Given the description of an element on the screen output the (x, y) to click on. 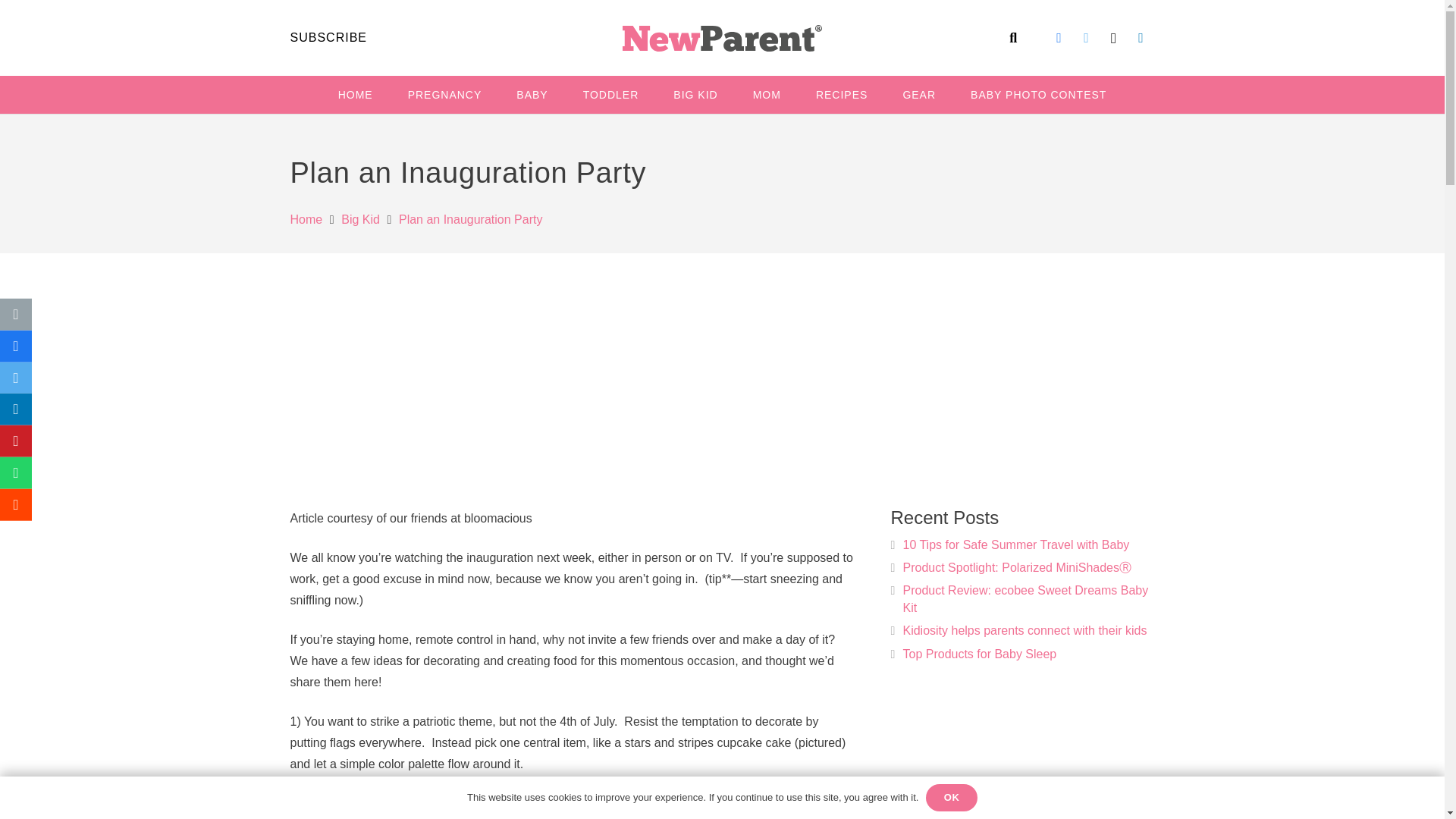
TODDLER (611, 94)
HOME (355, 94)
Instagram (1113, 37)
BIG KID (695, 94)
Big Kid (360, 219)
BABY (531, 94)
MOM (766, 94)
Twitter (1086, 37)
Plan an Inauguration Party (469, 219)
Facebook (1059, 37)
Home (305, 219)
GEAR (919, 94)
Advertisement (571, 383)
SUBSCRIBE (327, 37)
LinkedIn (1140, 37)
